Given the description of an element on the screen output the (x, y) to click on. 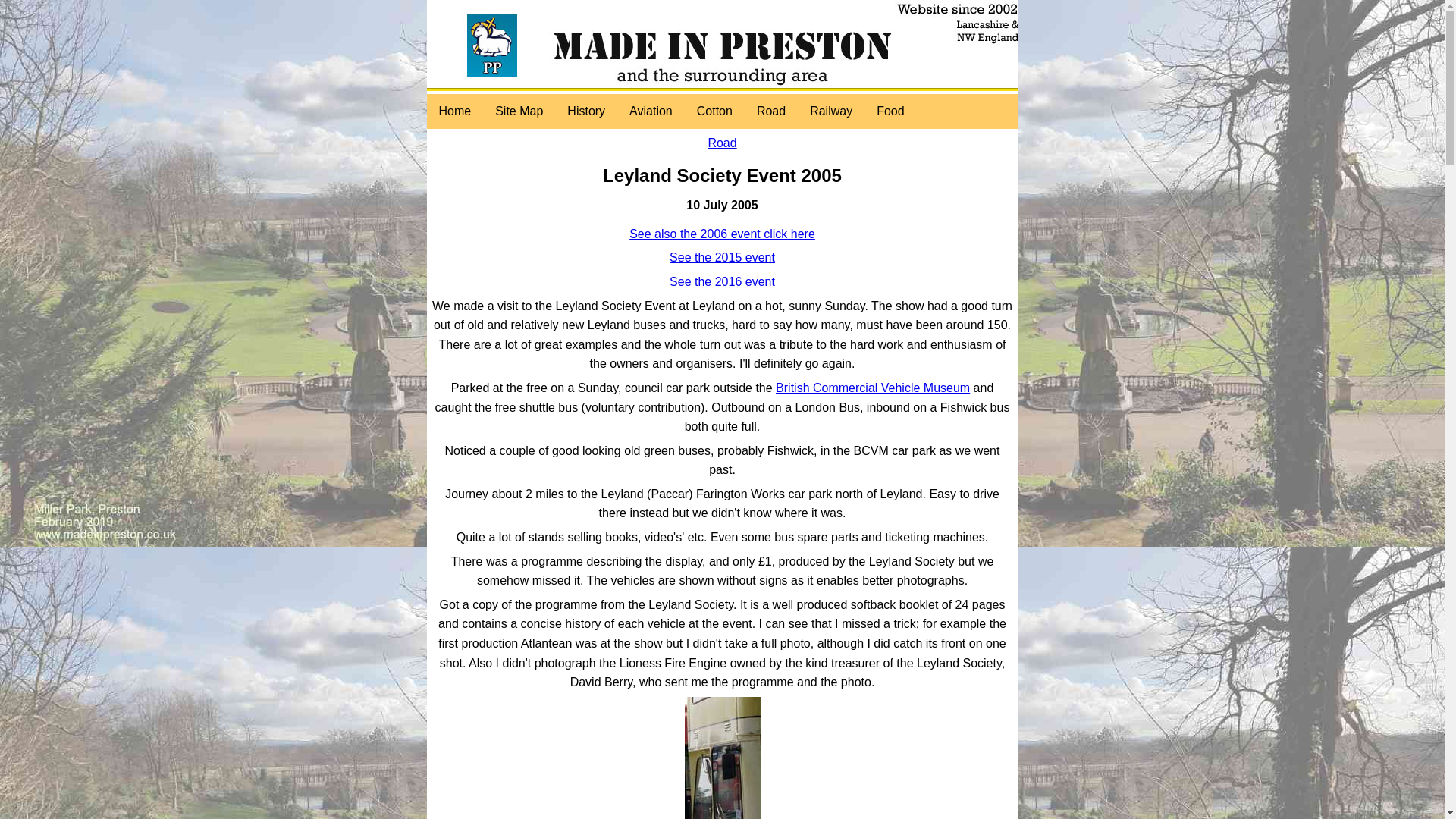
Home (454, 111)
Site Map (518, 111)
